Given the description of an element on the screen output the (x, y) to click on. 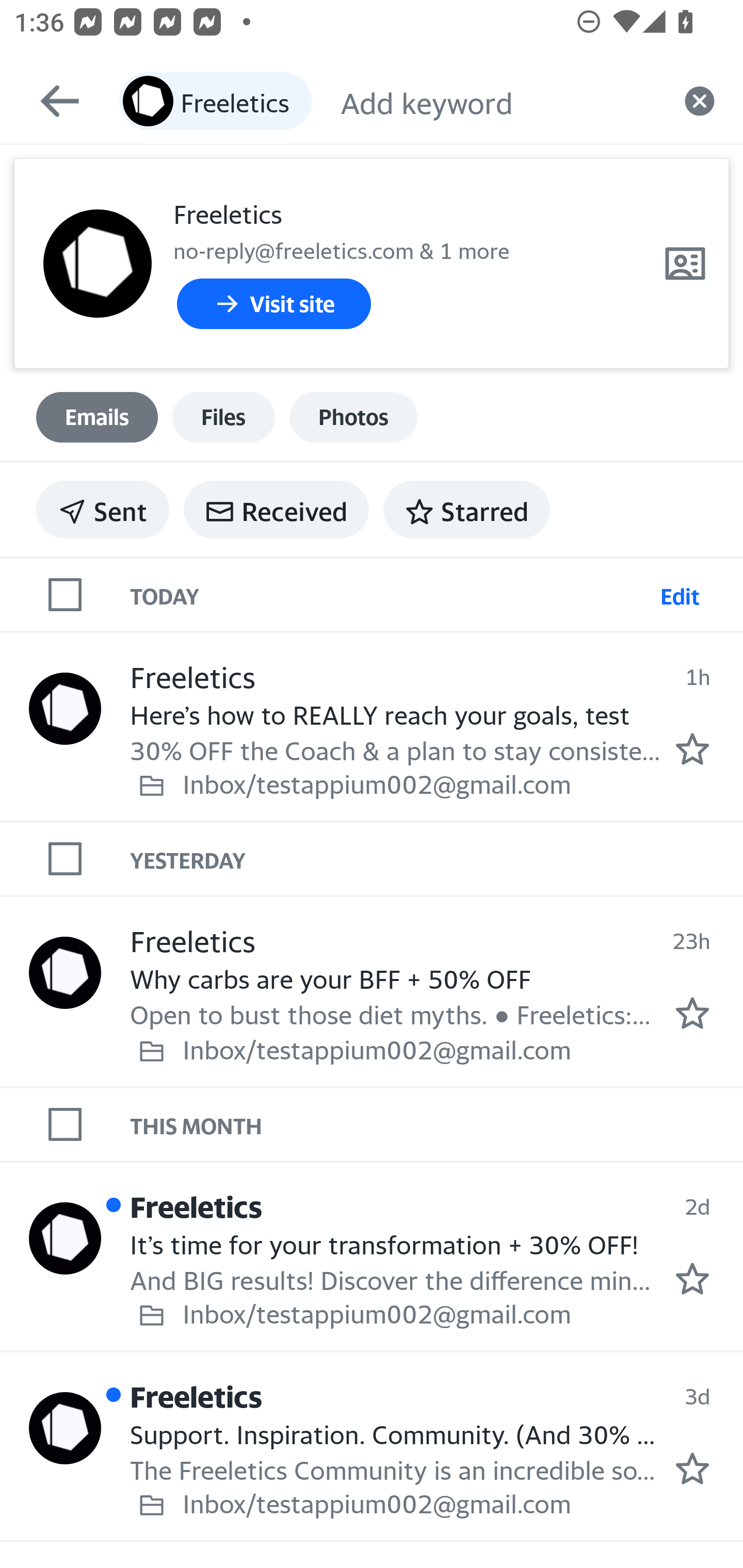
Back (50, 101)
Add keyword (498, 101)
Clear (699, 101)
Profile (97, 264)
Visit site (273, 304)
Emails (96, 417)
Files (223, 417)
Photos (353, 417)
Sent (102, 509)
Received (276, 509)
Starred (466, 509)
TODAY (391, 594)
Edit Select emails (679, 594)
Profile
Freeletics (64, 708)
Mark as starred. (692, 748)
YESTERDAY (436, 858)
Profile
Freeletics (64, 972)
Mark as starred. (692, 1013)
THIS MONTH (436, 1124)
Profile
Freeletics (64, 1238)
Mark as starred. (692, 1278)
Profile
Freeletics (64, 1428)
Mark as starred. (692, 1468)
